Given the description of an element on the screen output the (x, y) to click on. 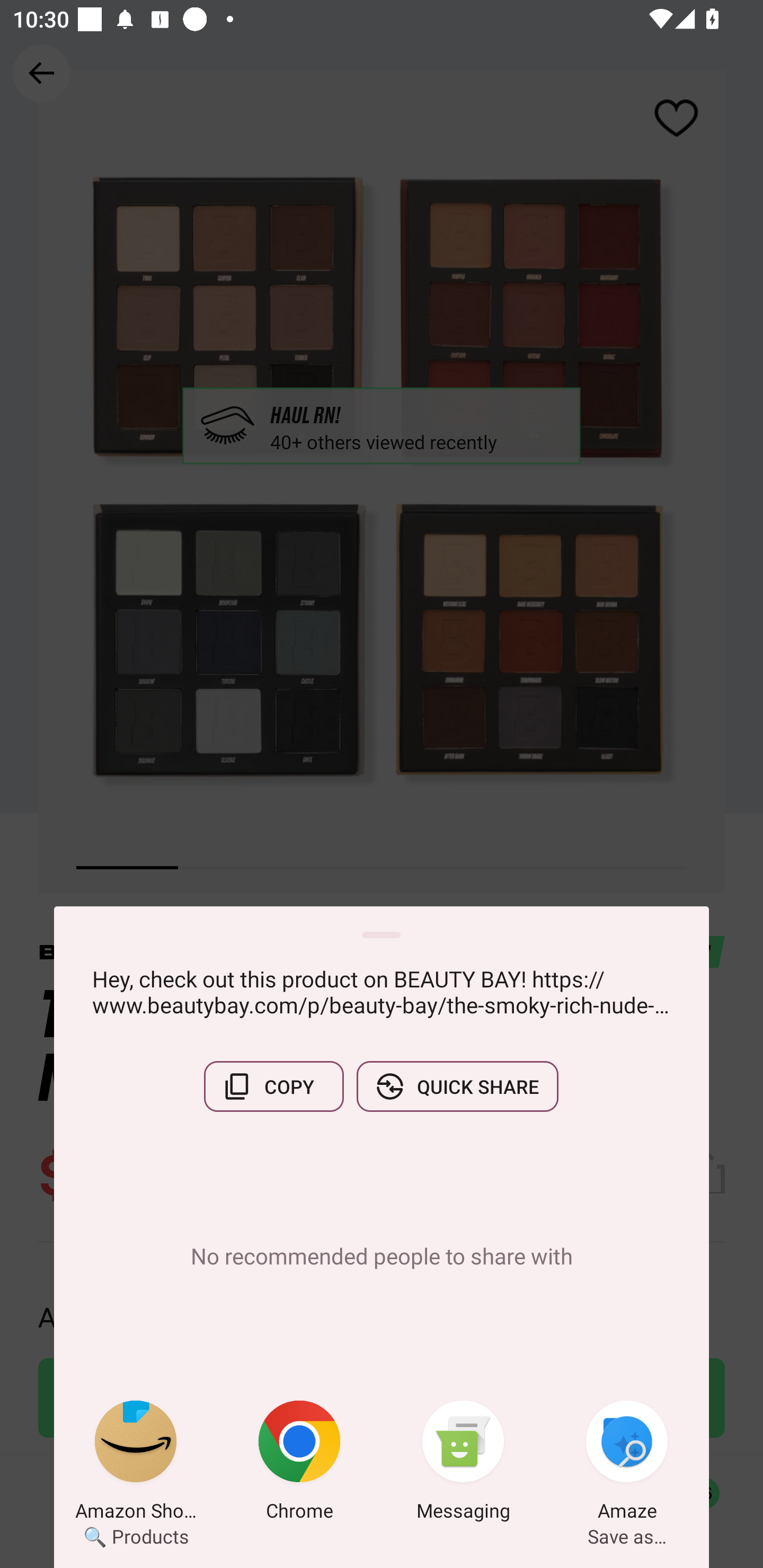
COPY (273, 1086)
QUICK SHARE (457, 1086)
Amazon Shopping 🔍 Products (135, 1463)
Chrome (299, 1463)
Messaging (463, 1463)
Amaze Save as… (626, 1463)
